Given the description of an element on the screen output the (x, y) to click on. 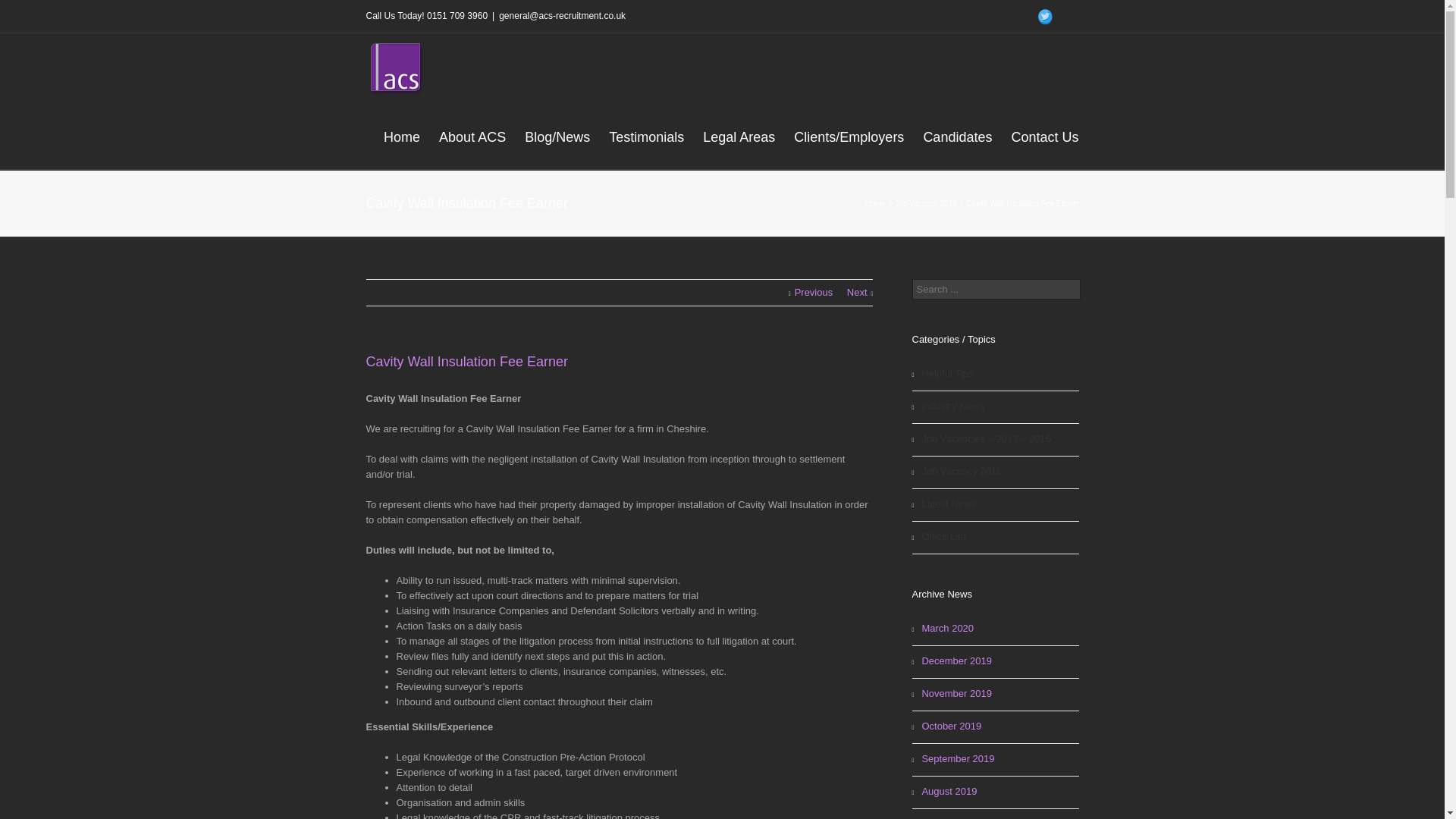
Job Vacancy 2016 (994, 472)
Next (860, 292)
Office Life (994, 537)
December 2019 (994, 662)
Cavity Wall Insulation Fee Earner (466, 361)
Home (876, 203)
Testimonials (646, 136)
Facebook (1069, 16)
Job Vacancy 2016 (927, 203)
Helpful Tips (994, 374)
